Given the description of an element on the screen output the (x, y) to click on. 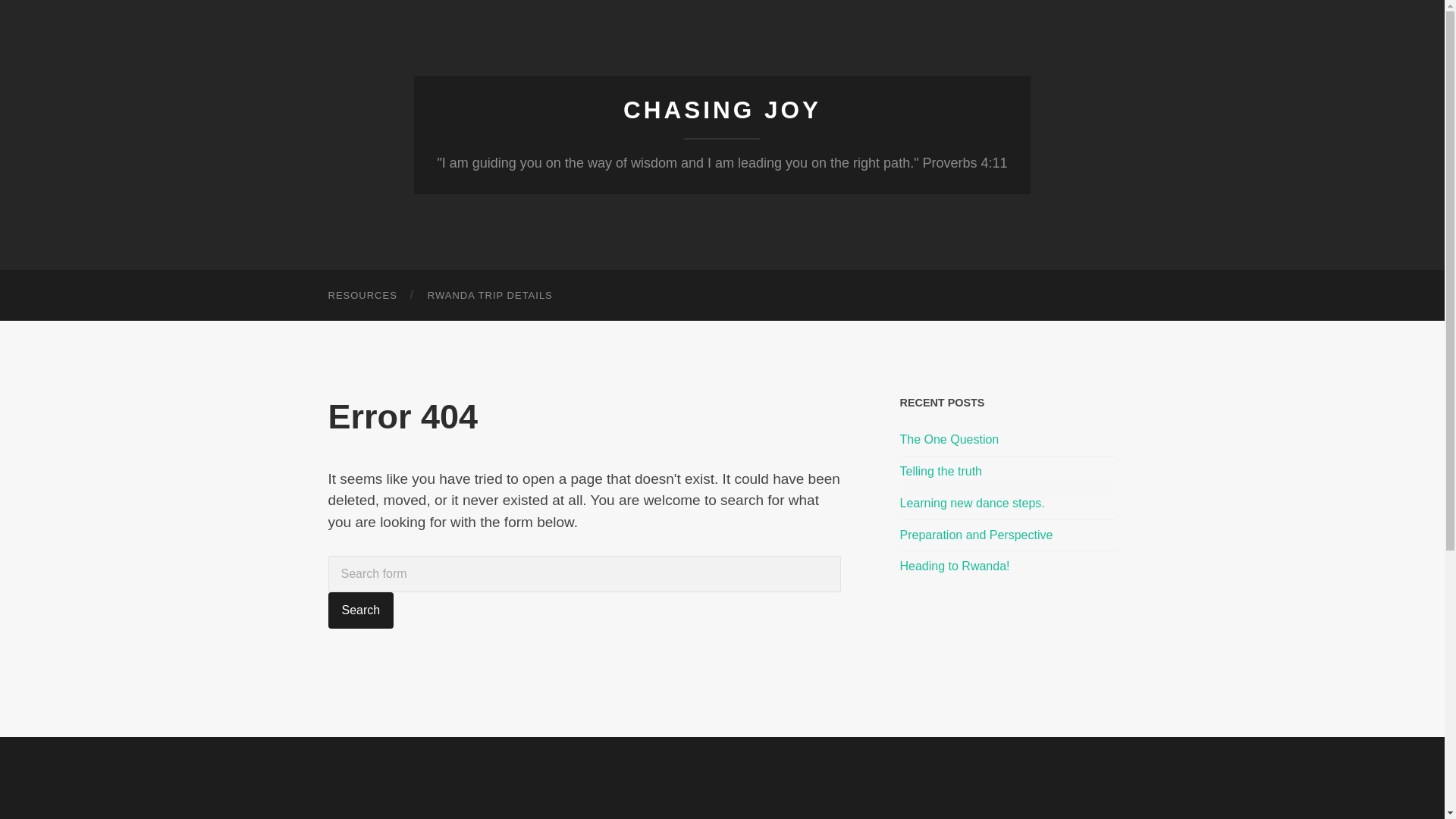
The One Question (1007, 439)
Search (360, 610)
RESOURCES (362, 295)
Preparation and Perspective (1007, 535)
CHASING JOY (722, 109)
Learning new dance steps. (1007, 503)
Search (360, 610)
Heading to Rwanda! (1007, 566)
Telling the truth (1007, 471)
RWANDA TRIP DETAILS (489, 295)
